Given the description of an element on the screen output the (x, y) to click on. 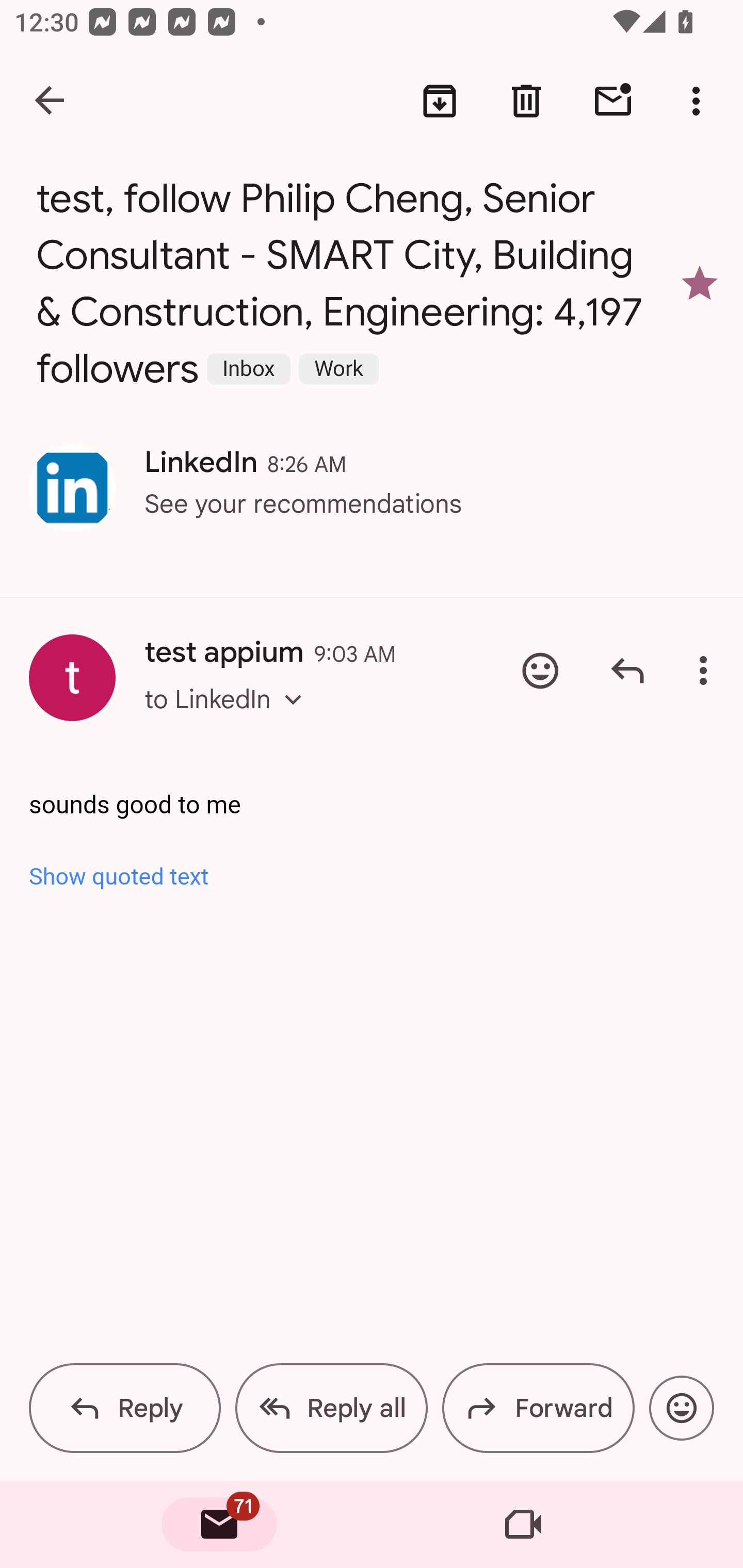
Navigate up (50, 101)
Archive (439, 101)
Delete (525, 101)
Mark unread (612, 101)
More options (699, 101)
Remove star (699, 283)
Customize (217, 473)
No thanks (390, 473)
Show contact information for LinkedIn (71, 488)
Add emoji reaction (540, 670)
Reply (626, 670)
More options (706, 670)
Show contact information for test appium (71, 678)
to LinkedIn (229, 717)
Reply (124, 1407)
Reply all (331, 1407)
Forward (538, 1407)
Add emoji reaction (681, 1407)
Meet (523, 1524)
